Given the description of an element on the screen output the (x, y) to click on. 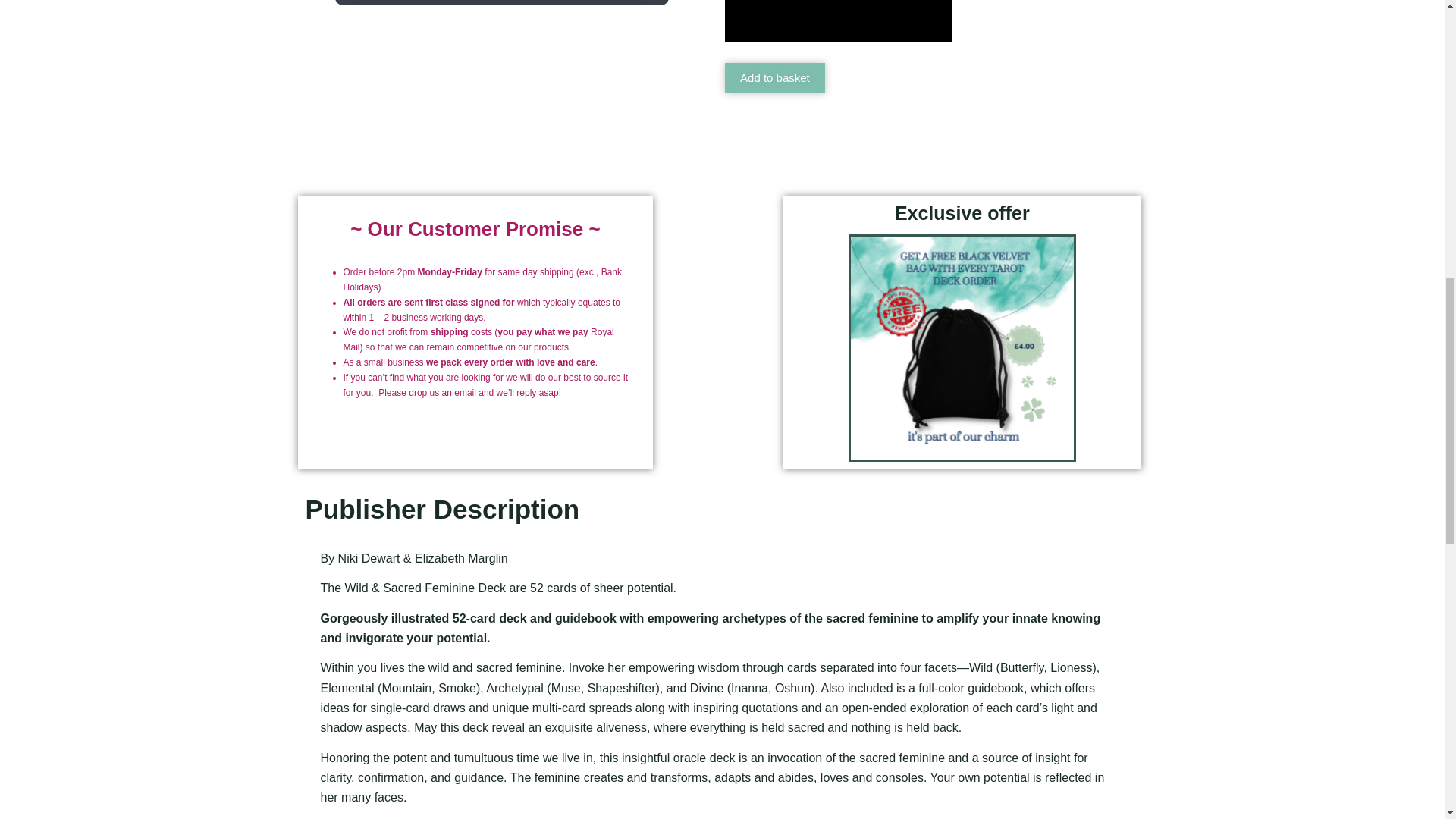
PayPal (858, 122)
